Given the description of an element on the screen output the (x, y) to click on. 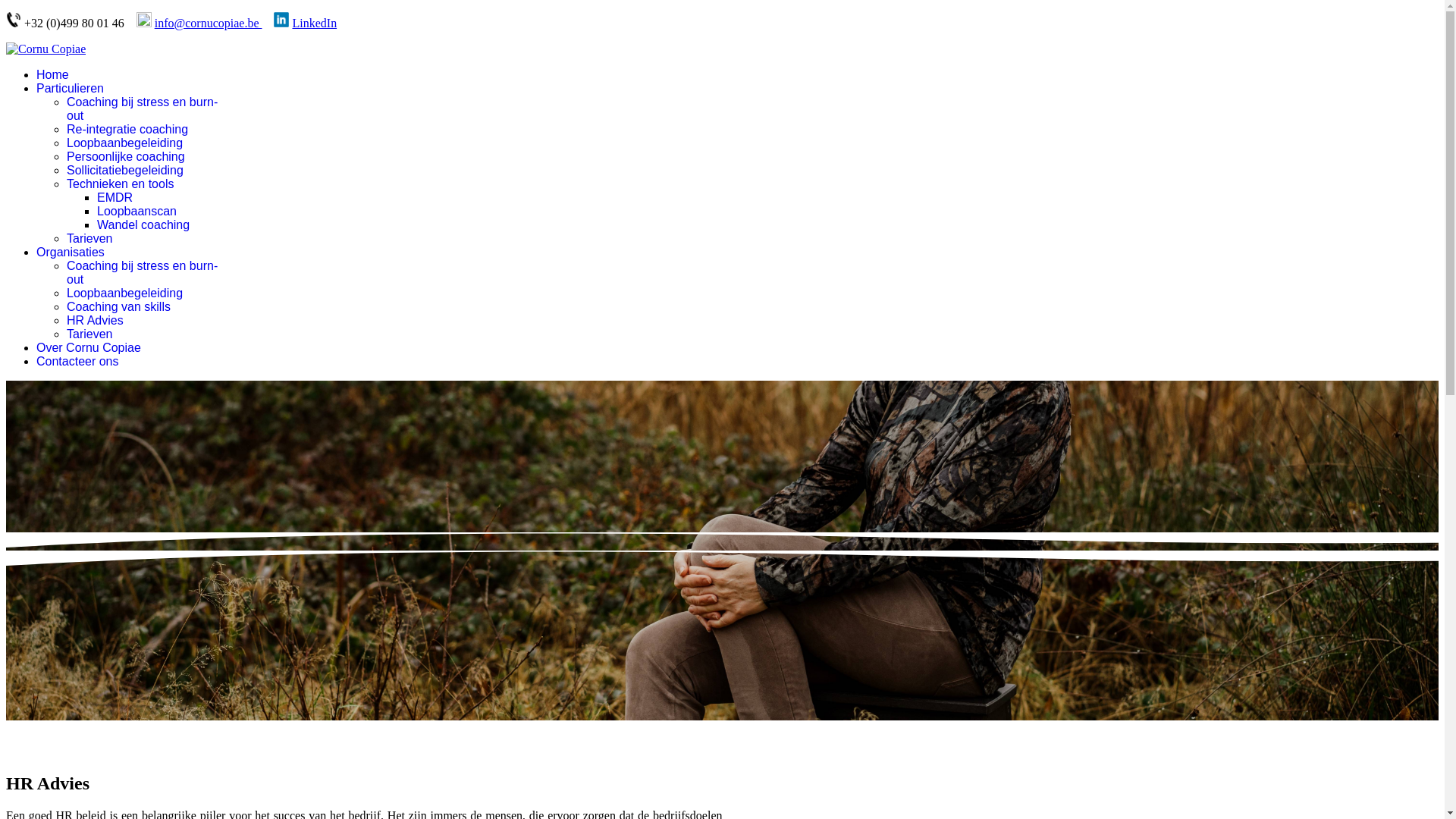
Re-integratie coaching Element type: text (127, 128)
Contacteer ons Element type: text (77, 360)
Wandel coaching Element type: text (143, 224)
Persoonlijke coaching Element type: text (125, 156)
Home Element type: text (52, 74)
Particulieren Element type: text (69, 87)
Loopbaanscan Element type: text (136, 210)
info@cornucopiae.be Element type: text (208, 22)
Organisaties Element type: text (70, 251)
Coaching bij stress en burn-out Element type: text (141, 272)
Coaching van skills Element type: text (118, 306)
EMDR Element type: text (114, 197)
LinkedIn Element type: text (313, 22)
Loopbaanbegeleiding Element type: text (124, 292)
Loopbaanbegeleiding Element type: text (124, 142)
Sollicitatiebegeleiding Element type: text (124, 169)
Over Cornu Copiae Element type: text (88, 347)
HR Advies Element type: text (94, 319)
Tarieven Element type: text (89, 333)
Technieken en tools Element type: text (119, 183)
Coaching bij stress en burn-out Element type: text (141, 108)
Tarieven Element type: text (89, 238)
